Given the description of an element on the screen output the (x, y) to click on. 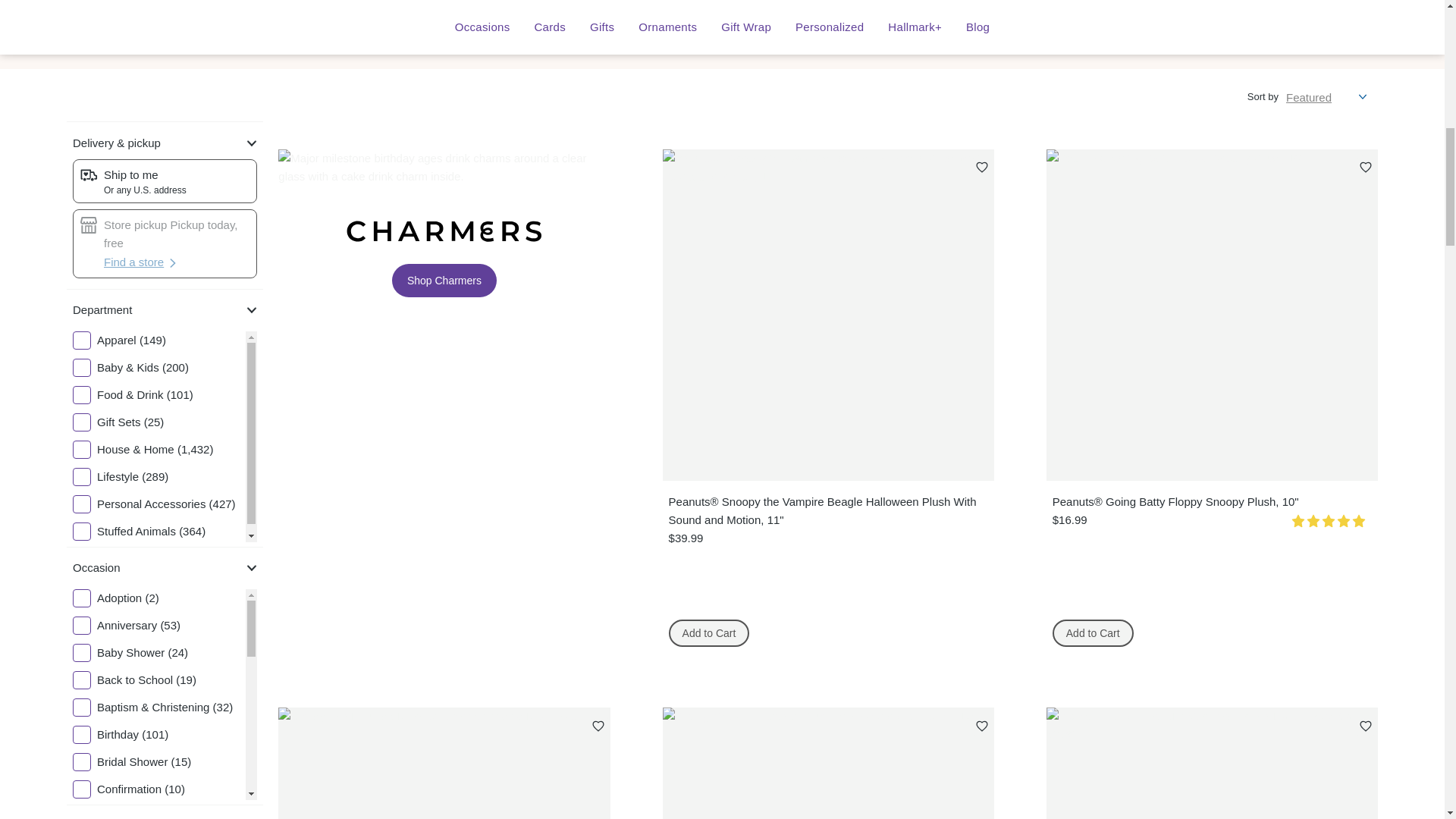
 Refine by Department: Apparel (159, 340)
 Refine by Buyable Channel: store-pickup (165, 234)
 Refine by Buyable Channel: ship-to-me (165, 181)
